Given the description of an element on the screen output the (x, y) to click on. 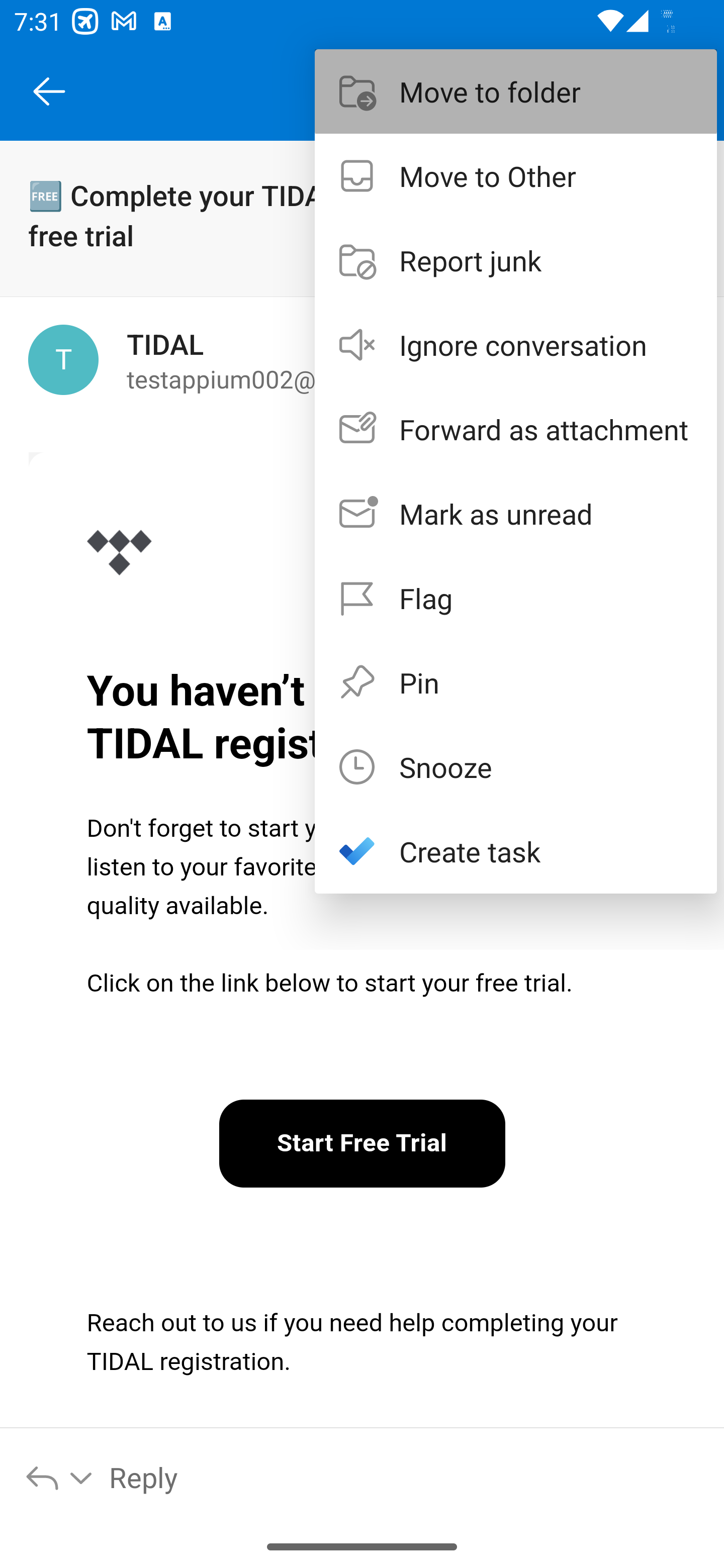
Move to folder (515, 90)
Move to Other (515, 175)
Report junk (515, 259)
Ignore conversation (515, 344)
Forward as attachment (515, 429)
Mark as unread (515, 513)
Flag (515, 597)
Pin (515, 681)
Snooze (515, 766)
Create task (515, 851)
